Given the description of an element on the screen output the (x, y) to click on. 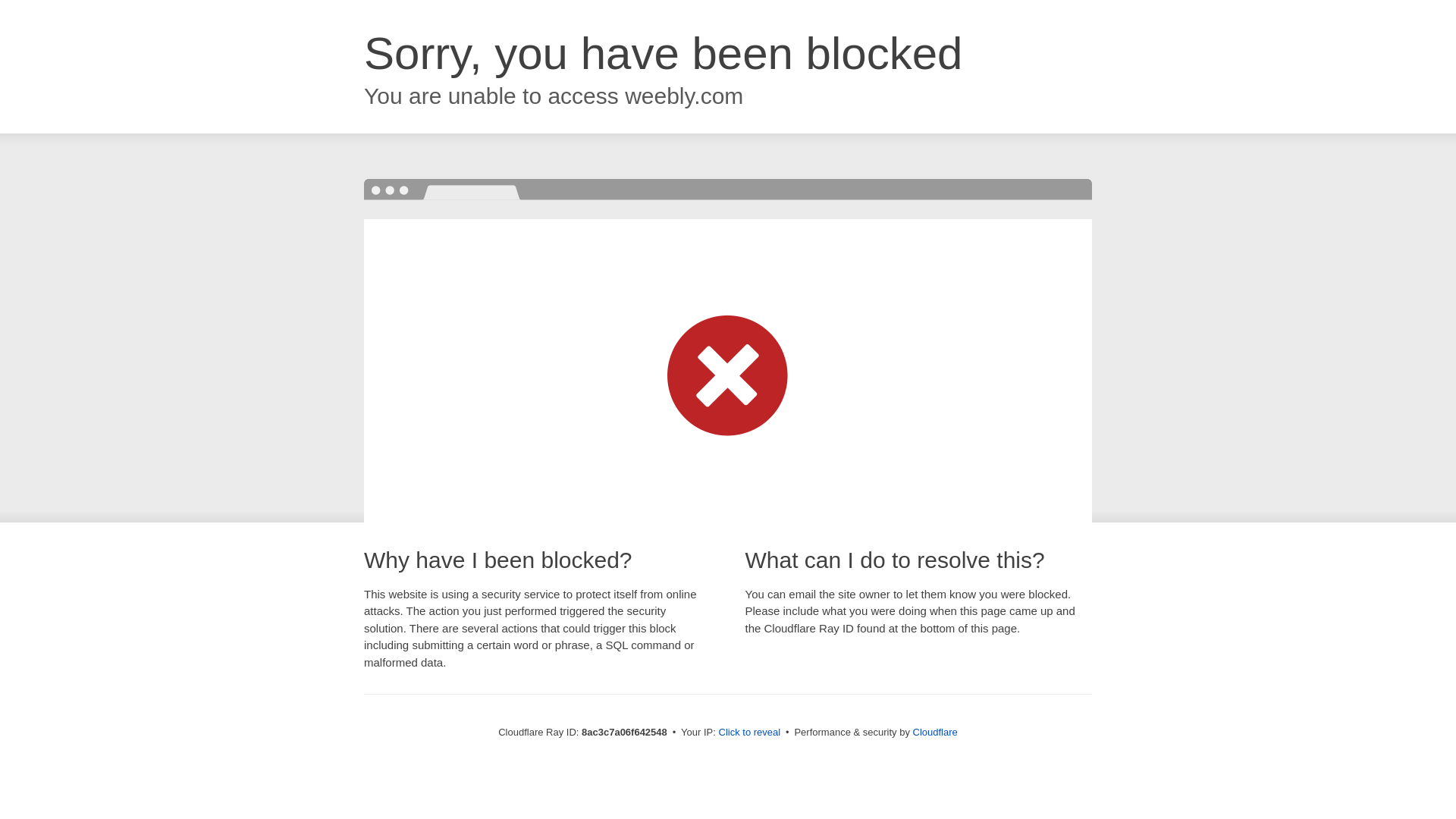
Cloudflare (935, 731)
Click to reveal (749, 732)
